Given the description of an element on the screen output the (x, y) to click on. 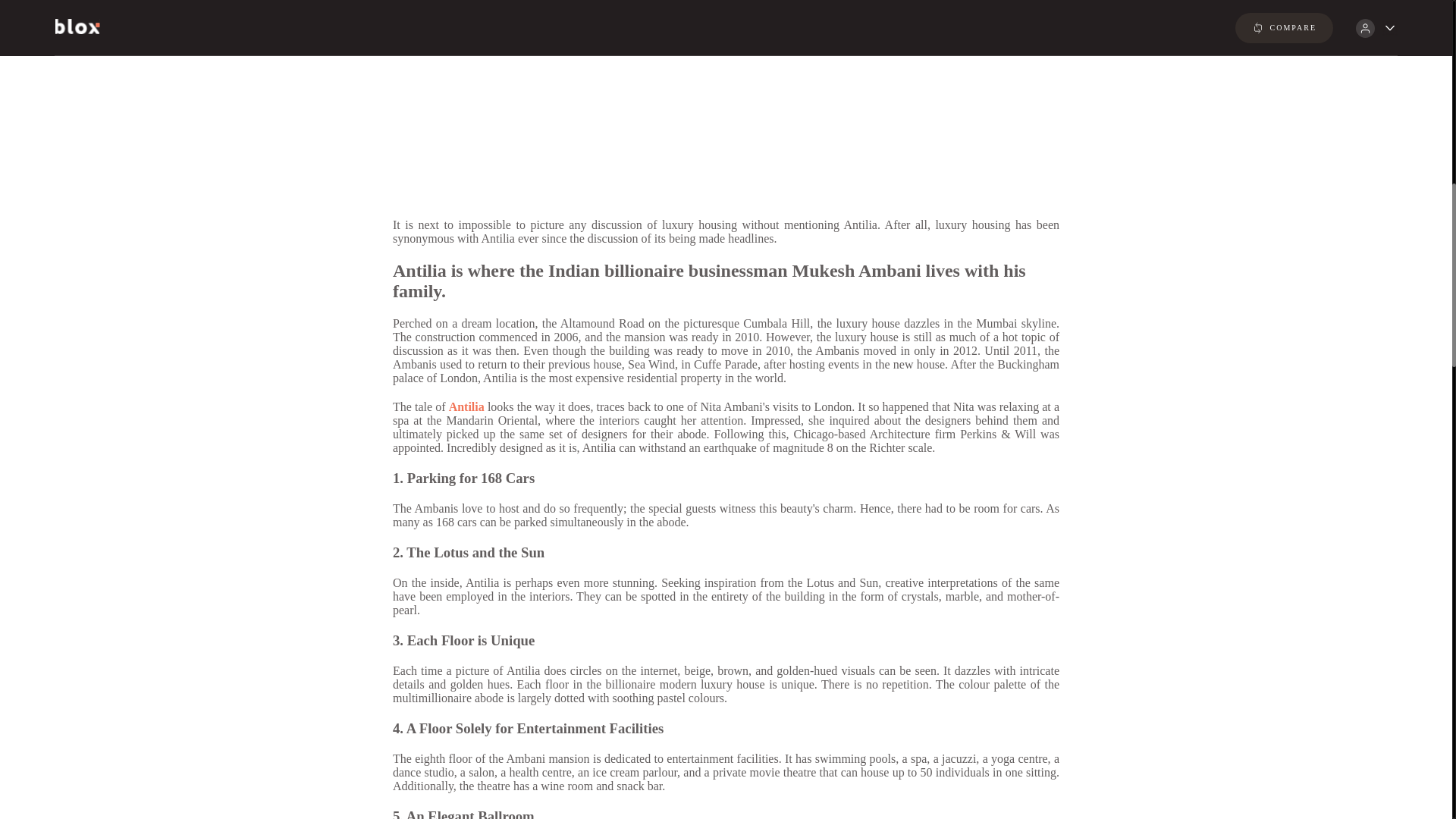
Antilia (466, 406)
